Given the description of an element on the screen output the (x, y) to click on. 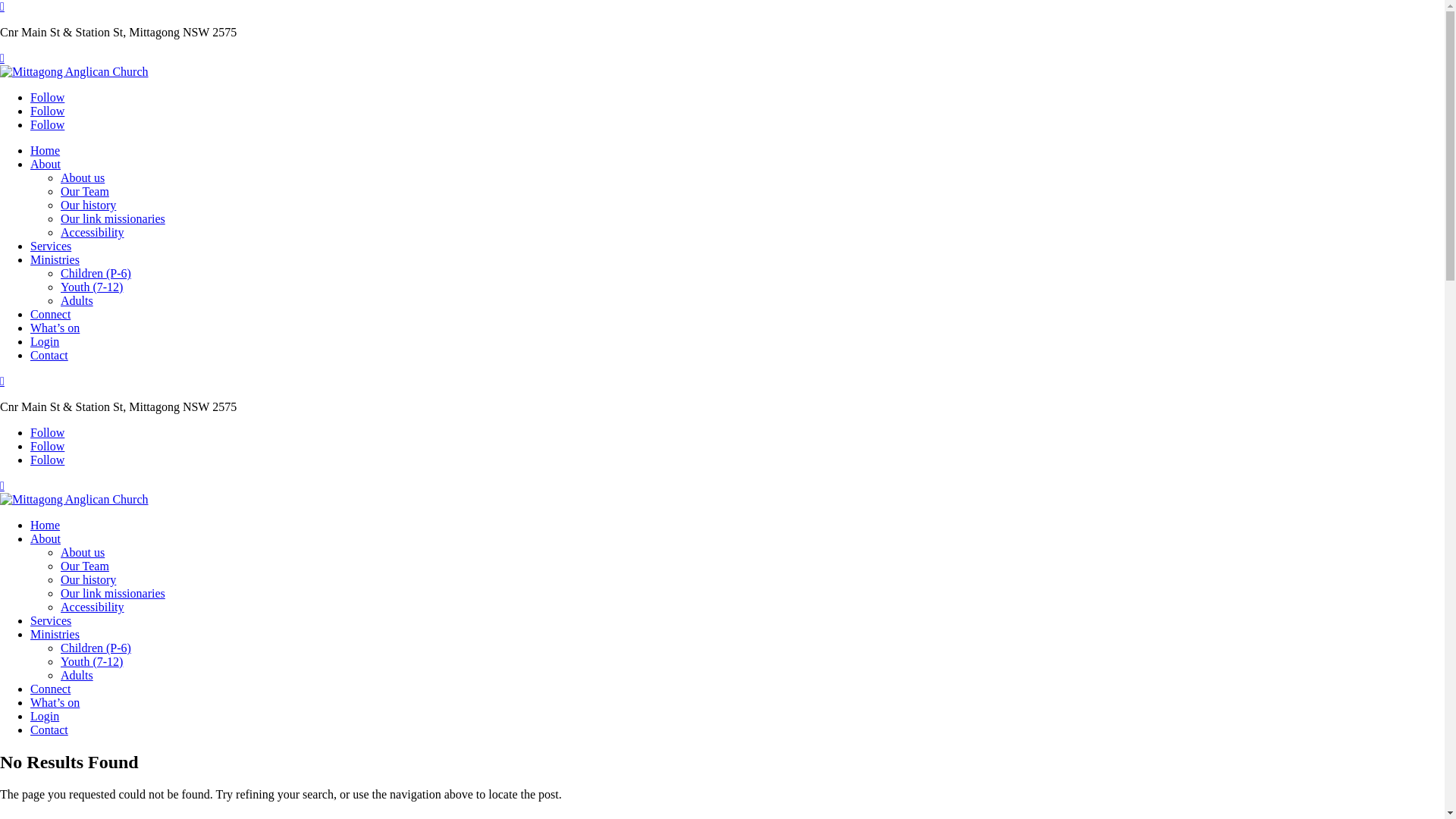
Contact Element type: text (49, 354)
Services Element type: text (50, 620)
Our link missionaries Element type: text (112, 218)
Home Element type: text (44, 524)
Ministries Element type: text (54, 633)
About us Element type: text (82, 552)
Accessibility Element type: text (92, 606)
Our Team Element type: text (84, 191)
Follow Element type: text (47, 110)
About Element type: text (45, 538)
Youth (7-12) Element type: text (91, 286)
Adults Element type: text (76, 300)
Our history Element type: text (88, 204)
Follow Element type: text (47, 432)
Our Team Element type: text (84, 565)
Children (P-6) Element type: text (95, 647)
Children (P-6) Element type: text (95, 272)
Connect Element type: text (50, 688)
Connect Element type: text (50, 313)
Ministries Element type: text (54, 259)
Accessibility Element type: text (92, 231)
Contact Element type: text (49, 729)
About Element type: text (45, 163)
Login Element type: text (44, 715)
Youth (7-12) Element type: text (91, 661)
About us Element type: text (82, 177)
Follow Element type: text (47, 459)
Our history Element type: text (88, 579)
Follow Element type: text (47, 124)
Adults Element type: text (76, 674)
Follow Element type: text (47, 445)
Mittagong Anglican Church Element type: hover (74, 71)
Follow Element type: text (47, 97)
Login Element type: text (44, 341)
Our link missionaries Element type: text (112, 592)
Home Element type: text (44, 150)
Services Element type: text (50, 245)
